Given the description of an element on the screen output the (x, y) to click on. 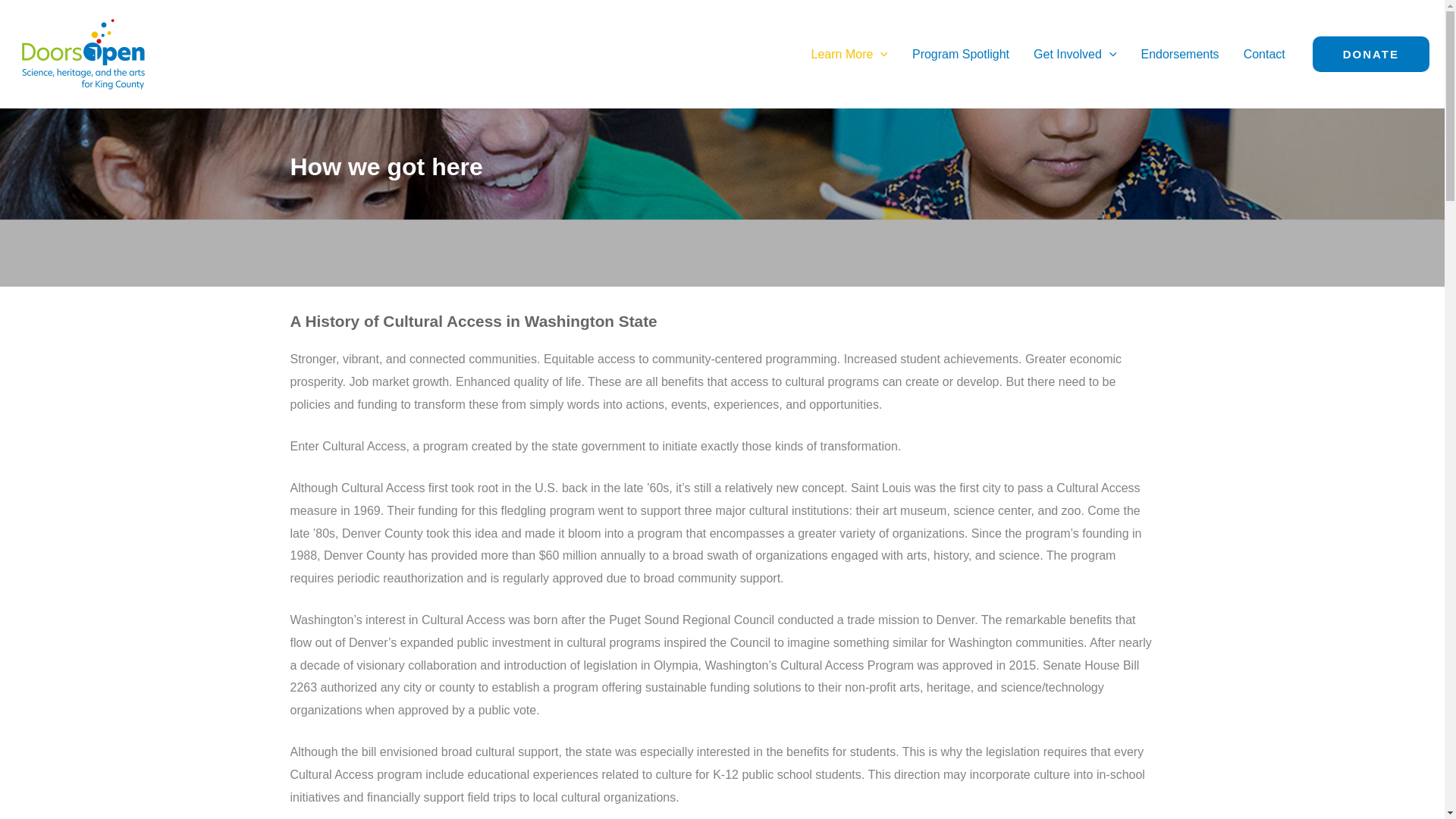
Get Involved (1075, 53)
Program Spotlight (960, 53)
Endorsements (1179, 53)
DONATE (1371, 54)
Contact (1264, 53)
Learn More (849, 53)
